Given the description of an element on the screen output the (x, y) to click on. 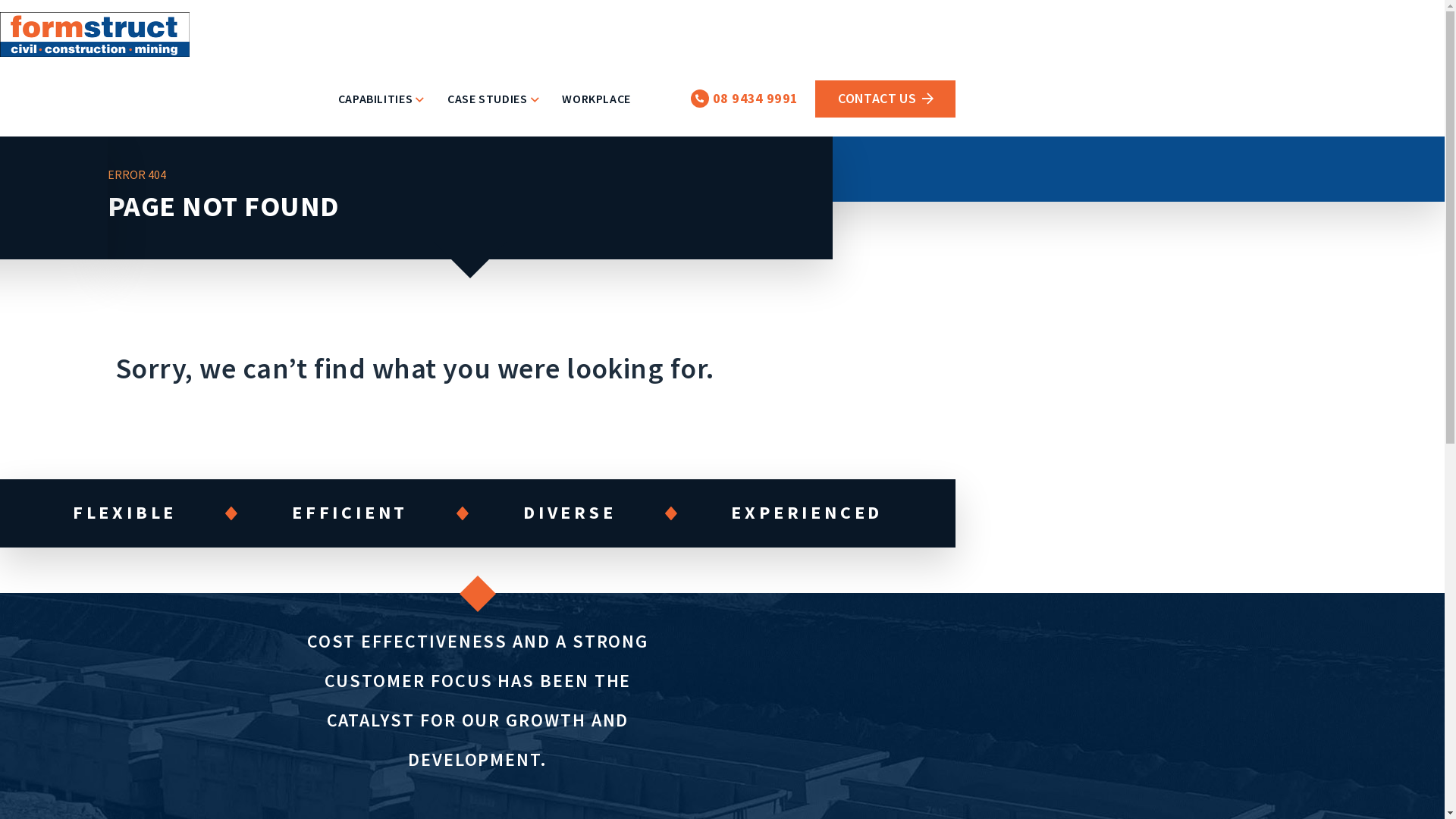
CONTACT US Element type: text (885, 98)
CASE STUDIES Element type: text (493, 114)
WORKPLACE Element type: text (595, 114)
CAPABILITIES Element type: text (381, 114)
08 9434 9991 Element type: text (743, 97)
